Given the description of an element on the screen output the (x, y) to click on. 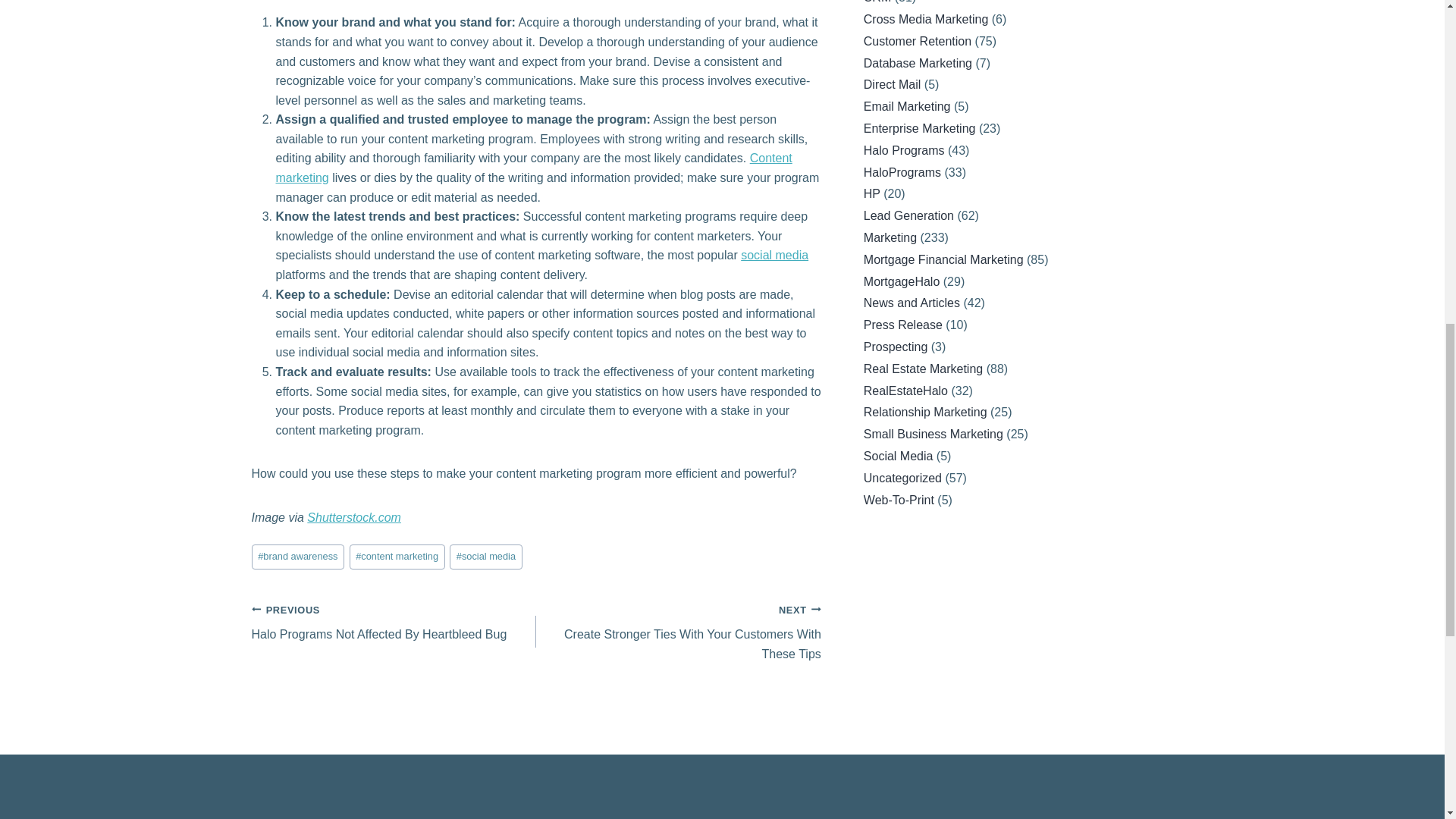
content marketing (394, 621)
social media (397, 556)
social media (485, 556)
Content marketing (774, 254)
brand awareness (534, 167)
Shutterstock.com (298, 556)
